Given the description of an element on the screen output the (x, y) to click on. 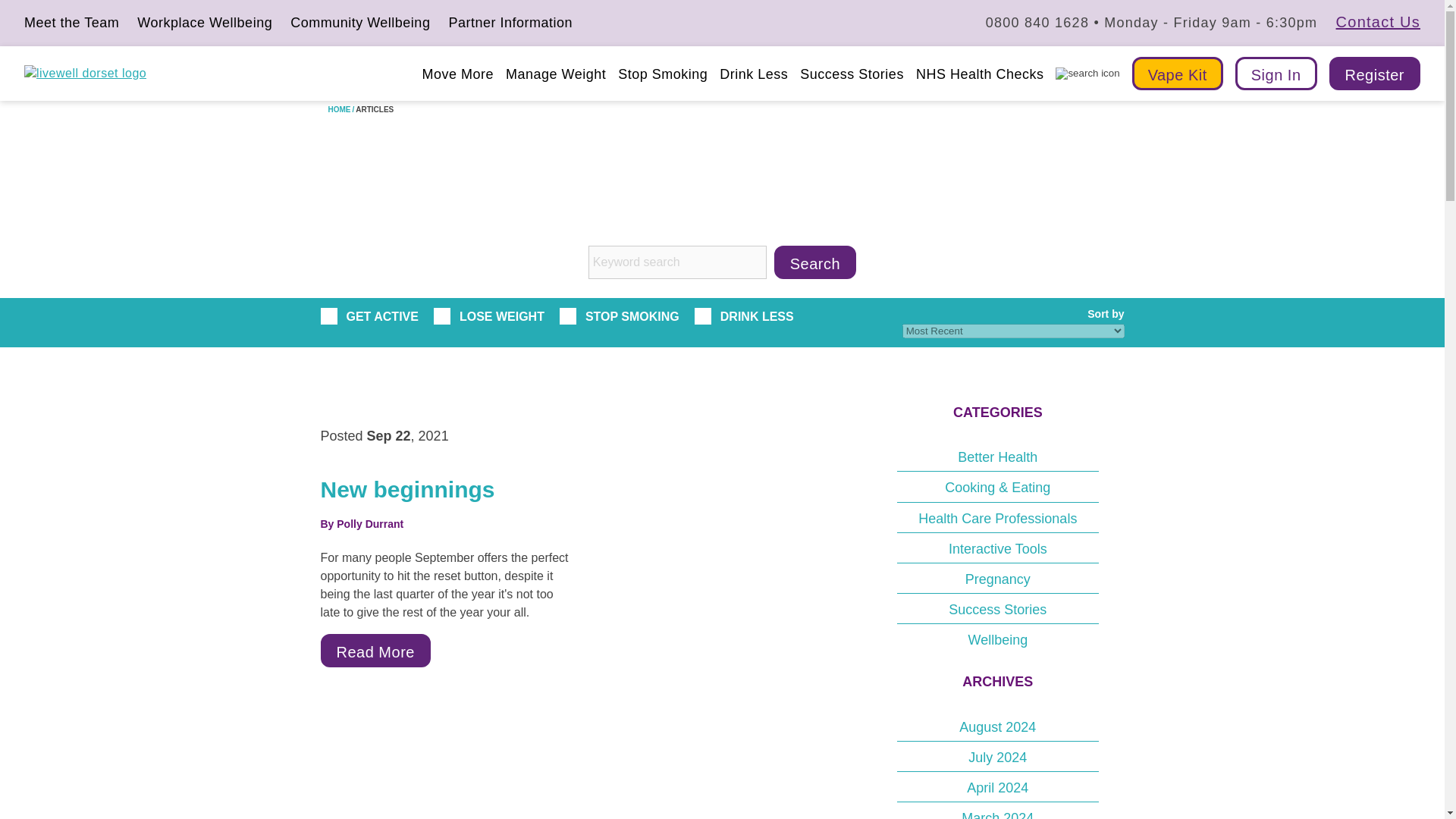
Search (815, 262)
Health Care Professionals (997, 517)
Community Wellbeing (359, 23)
April 2024 (997, 786)
Meet the Team (71, 23)
Move More (456, 72)
Success Stories (851, 72)
Wellbeing (997, 638)
Search (815, 262)
Drink Less (753, 72)
